Given the description of an element on the screen output the (x, y) to click on. 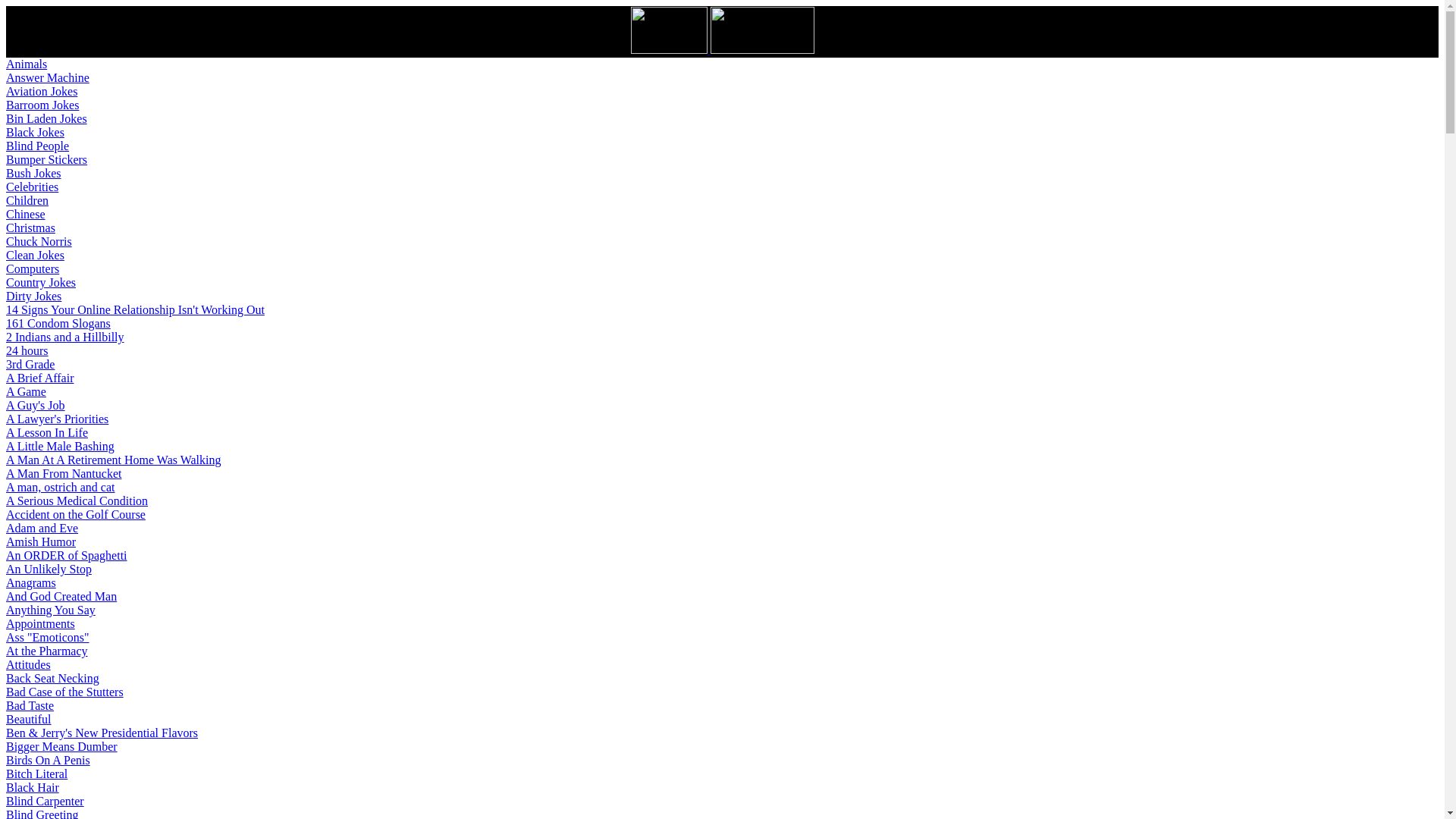
Children (26, 200)
Dirty Jokes (33, 295)
A Serious Medical Condition (76, 500)
An Unlikely Stop (48, 568)
161 Condom Slogans (57, 323)
Answer Machine (46, 77)
A Man At A Retirement Home Was Walking (113, 459)
Celebrities (31, 186)
A Little Male Bashing (60, 445)
A man, ostrich and cat (60, 486)
24 hours (26, 350)
Clean Jokes (34, 254)
A Man From Nantucket (62, 472)
Barroom Jokes (41, 104)
3rd Grade (30, 364)
